Given the description of an element on the screen output the (x, y) to click on. 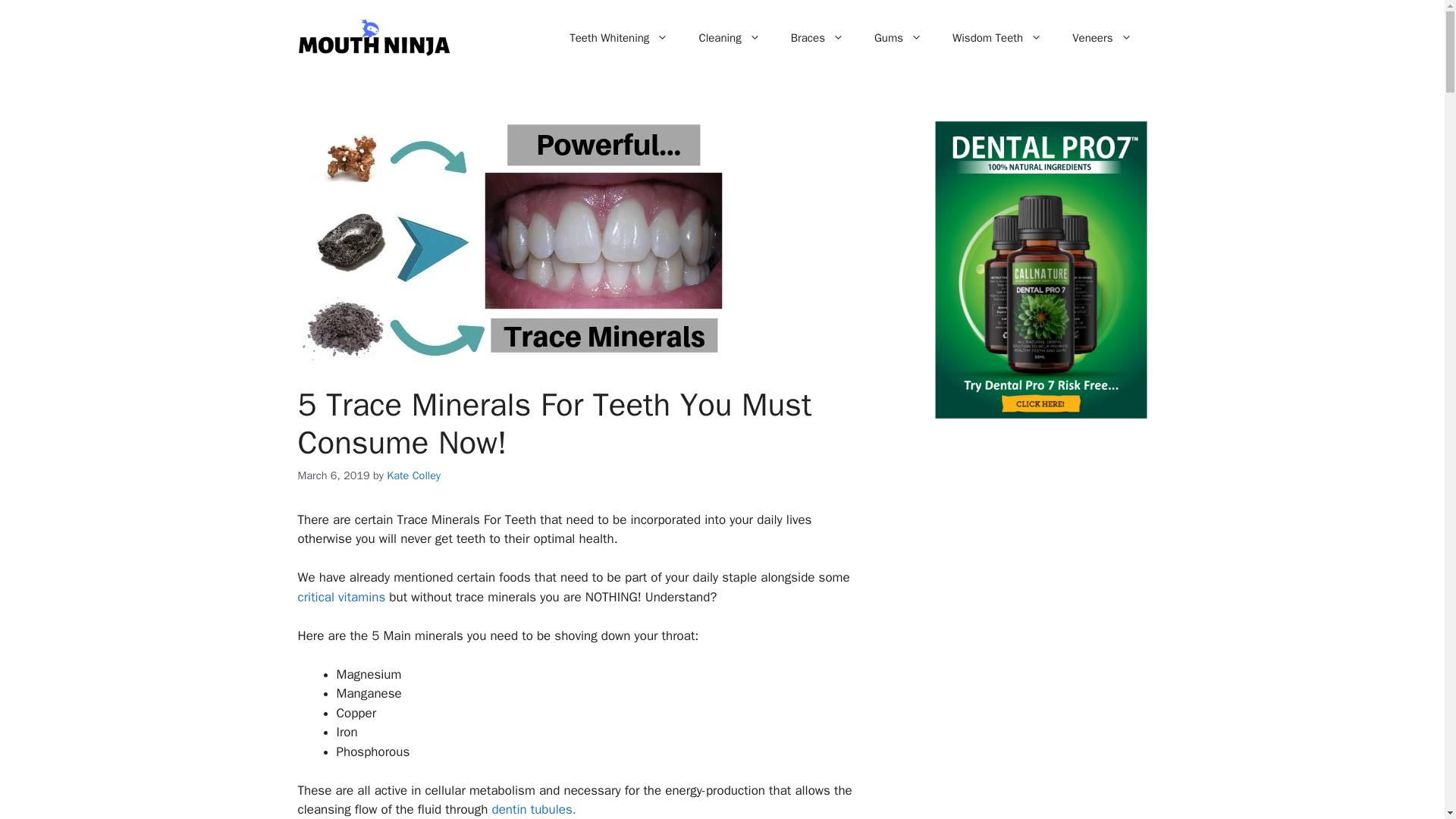
View all posts by Kate Colley (414, 475)
Teeth Whitening (618, 37)
Cleaning (728, 37)
